Given the description of an element on the screen output the (x, y) to click on. 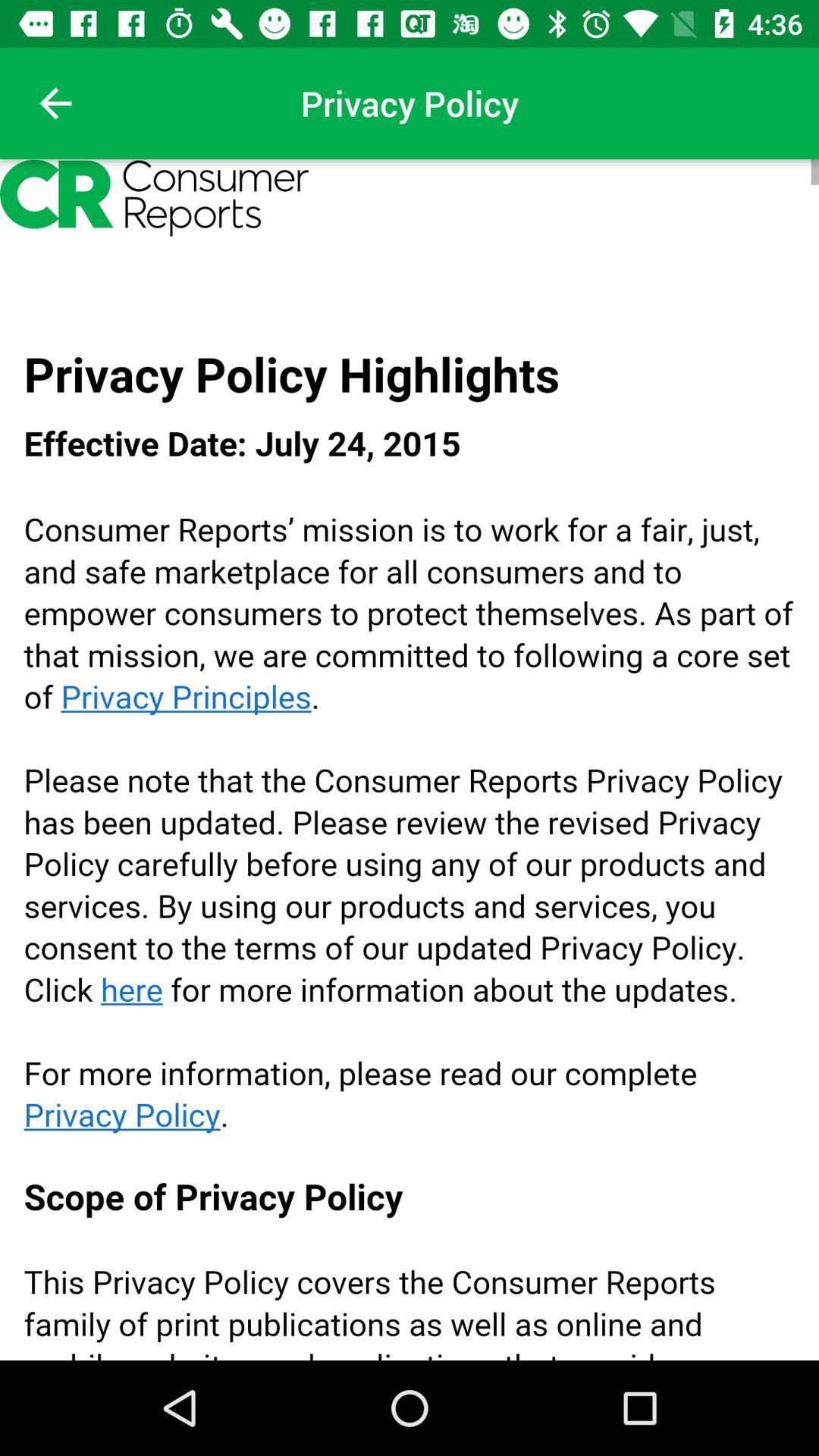
go back (55, 103)
